Given the description of an element on the screen output the (x, y) to click on. 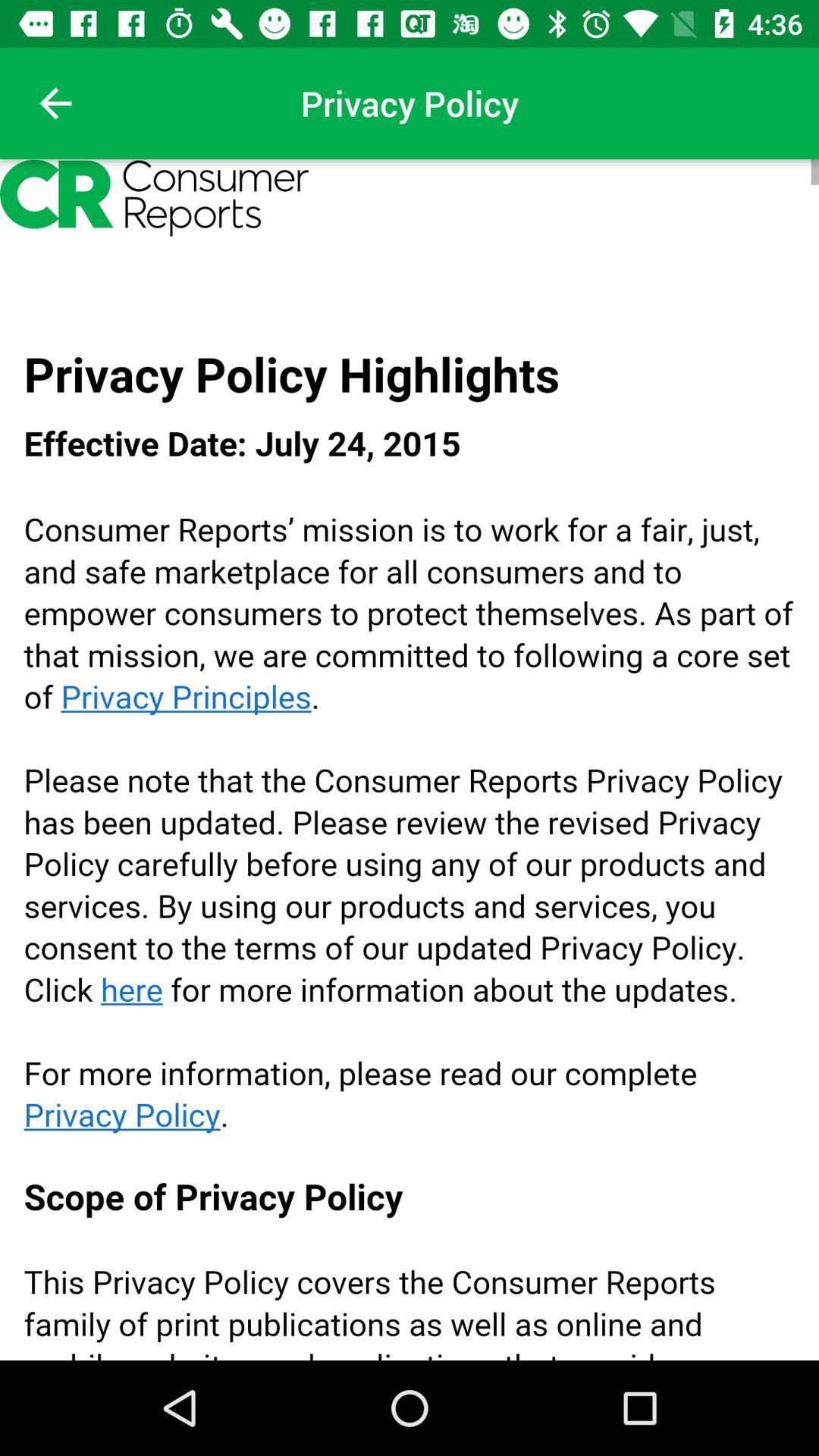
go back (55, 103)
